Given the description of an element on the screen output the (x, y) to click on. 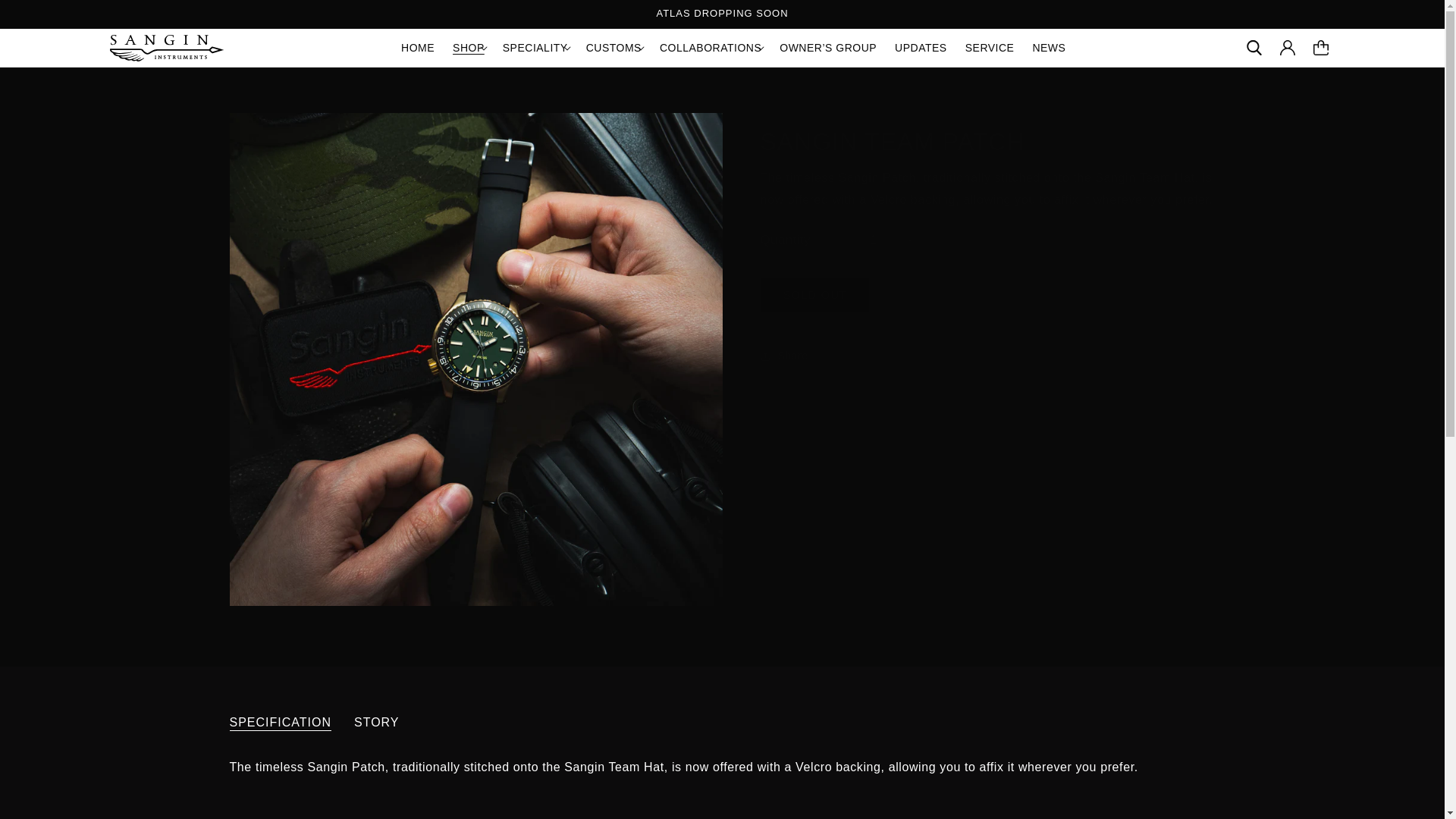
ATLAS DROPPING SOON (721, 14)
1 (873, 240)
Skip to content (45, 17)
